Given the description of an element on the screen output the (x, y) to click on. 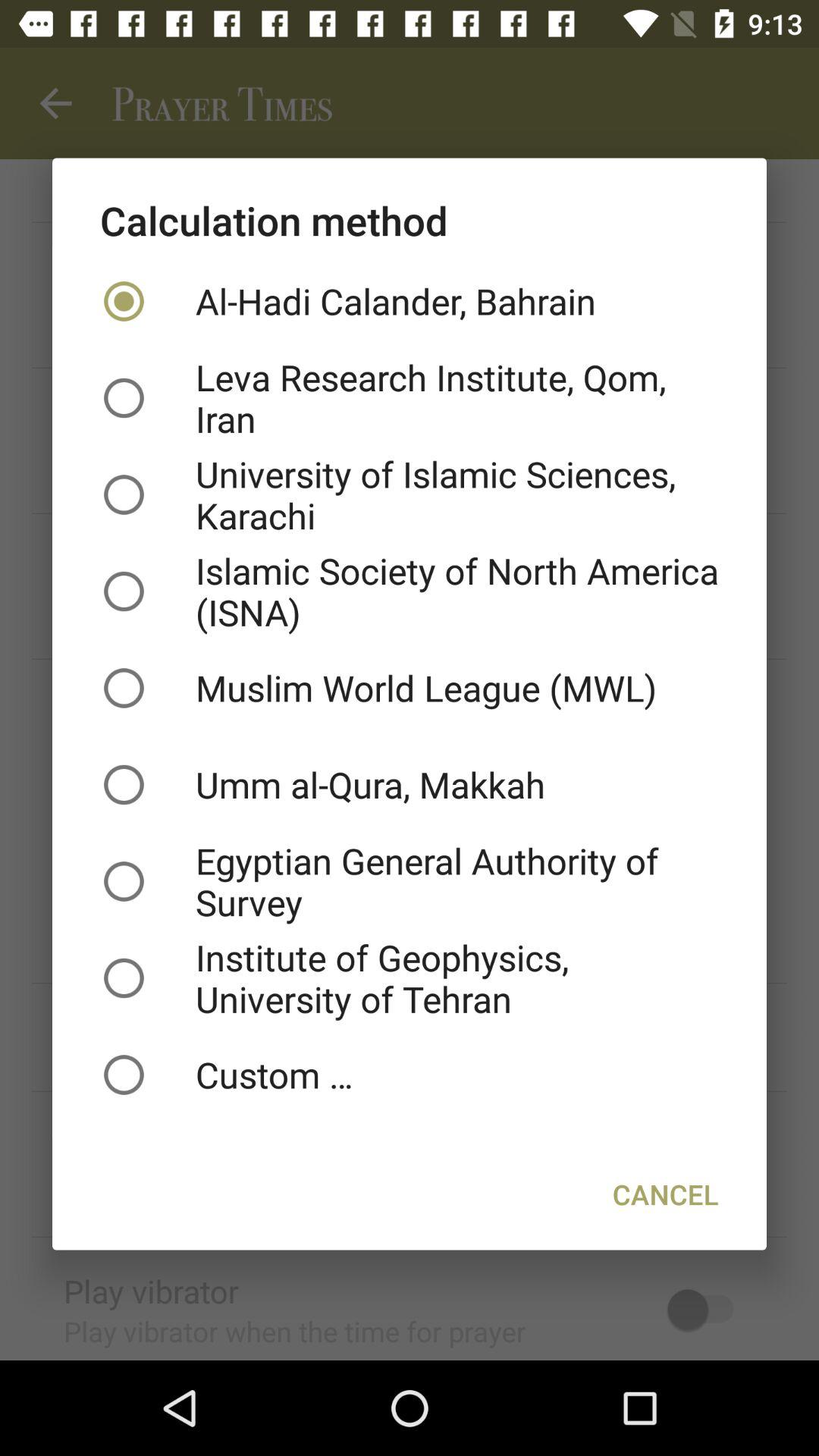
turn on the cancel item (665, 1194)
